Given the description of an element on the screen output the (x, y) to click on. 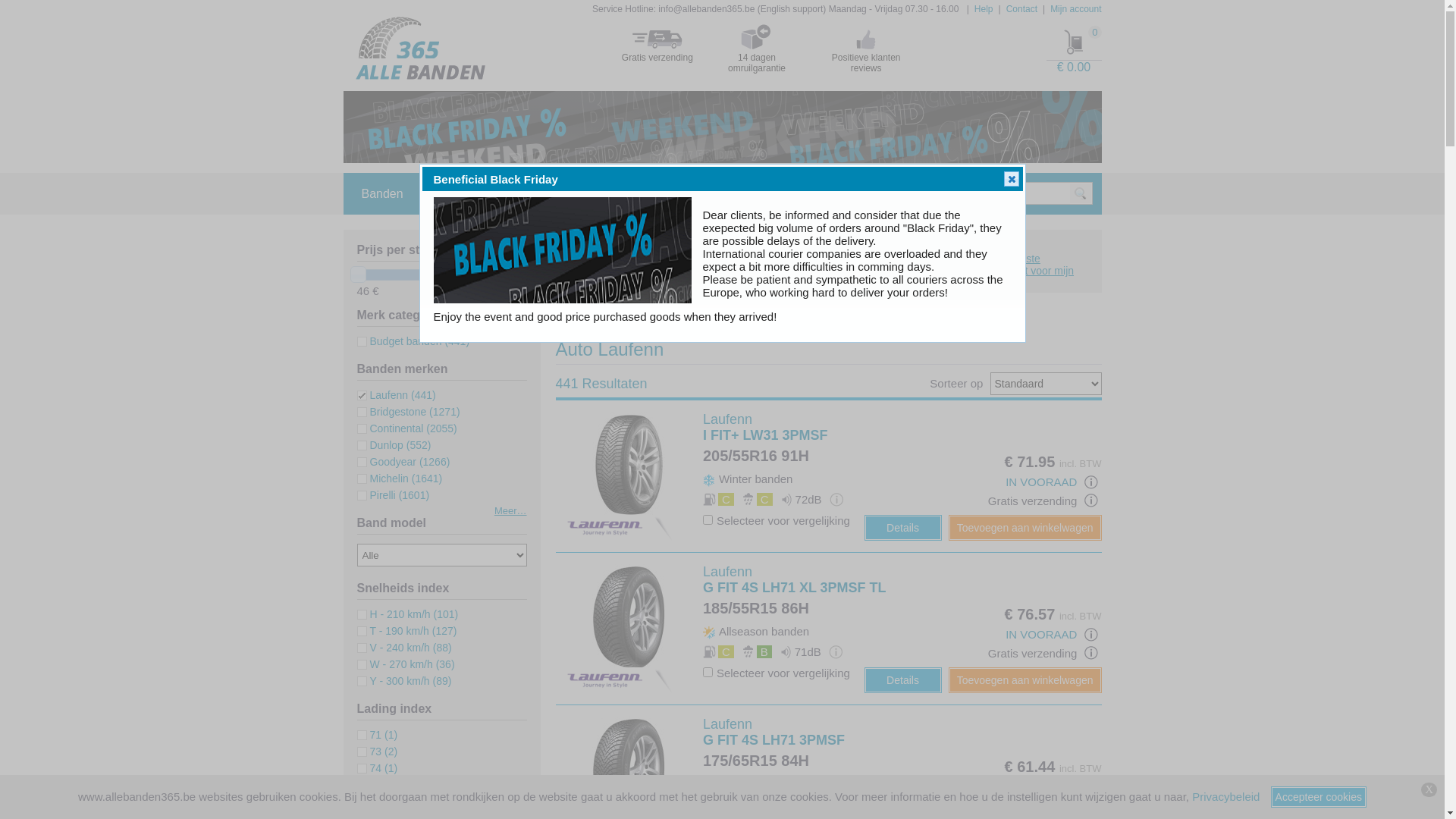
T - 190 km/h (127) Element type: text (406, 630)
Banden Element type: text (381, 193)
Michelin (1641) Element type: text (399, 478)
W - 270 km/h (36) Element type: text (405, 664)
Over ons Element type: text (603, 193)
zelfs voor 1 band Element type: hover (1091, 805)
Aan de hand van de laatste vooraad database update Element type: hover (1091, 482)
Gratis verzending Element type: text (657, 41)
Accepteer cookies Element type: text (1318, 796)
Dunlop (552) Element type: text (393, 445)
V - 240 km/h (88) Element type: text (403, 647)
Positieve klanten reviews Element type: text (865, 47)
zelfs voor 1 band Element type: hover (1091, 652)
Zoek Element type: text (927, 267)
Bridgestone (1271) Element type: text (407, 411)
Close Element type: text (1011, 178)
Laufenn
G FIT 4S LH71 3PMSF
175/65R15 84H Element type: text (777, 742)
Goodyear (1266) Element type: text (402, 461)
Budget banden (441) Element type: text (412, 341)
Laufenn Element type: text (657, 313)
73 (2) Element type: text (376, 751)
Aan de hand van de laatste vooraad database update Element type: hover (1091, 786)
zelfs voor 1 band Element type: hover (1091, 500)
Laufenn G FIT 4S LH71 XL 3PMSF TL Element type: hover (628, 617)
Toevoegen aan winkelwagen Element type: text (1024, 527)
Contact Element type: text (522, 193)
EU-bandenlabelbeschrijving Element type: hover (836, 498)
Continental (2055) Element type: text (406, 428)
Wat is de juiste bandenmaat voor mijn voertuig? Element type: text (1021, 270)
Details Element type: text (902, 527)
H - 210 km/h (101) Element type: text (407, 614)
Laufenn
I FIT+ LW31 3PMSF
205/55R16 91H Element type: text (777, 437)
Laufenn I FIT+ LW31 3PMSF Element type: hover (628, 464)
EU-bandenlabelbeschrijving Element type: hover (835, 651)
Y - 300 km/h (89) Element type: text (403, 680)
Details Element type: text (902, 680)
Pirelli (1601) Element type: text (392, 495)
Privacybeleid Element type: text (1225, 796)
74 (1) Element type: text (376, 768)
Help Element type: text (983, 8)
X Element type: text (1429, 789)
71 (1) Element type: text (376, 734)
Help Element type: text (452, 193)
Aan de hand van de laatste vooraad database update Element type: hover (1091, 634)
Mijn account Element type: text (1075, 8)
EU-bandenlabelbeschrijving Element type: hover (834, 803)
Laufenn
G FIT 4S LH71 XL 3PMSF TL
185/55R15 86H Element type: text (794, 590)
Contact Element type: text (1021, 8)
Laufenn (441) Element type: text (395, 395)
Toevoegen aan winkelwagen Element type: text (1024, 680)
14 dagen omruilgarantie Element type: text (756, 47)
